Given the description of an element on the screen output the (x, y) to click on. 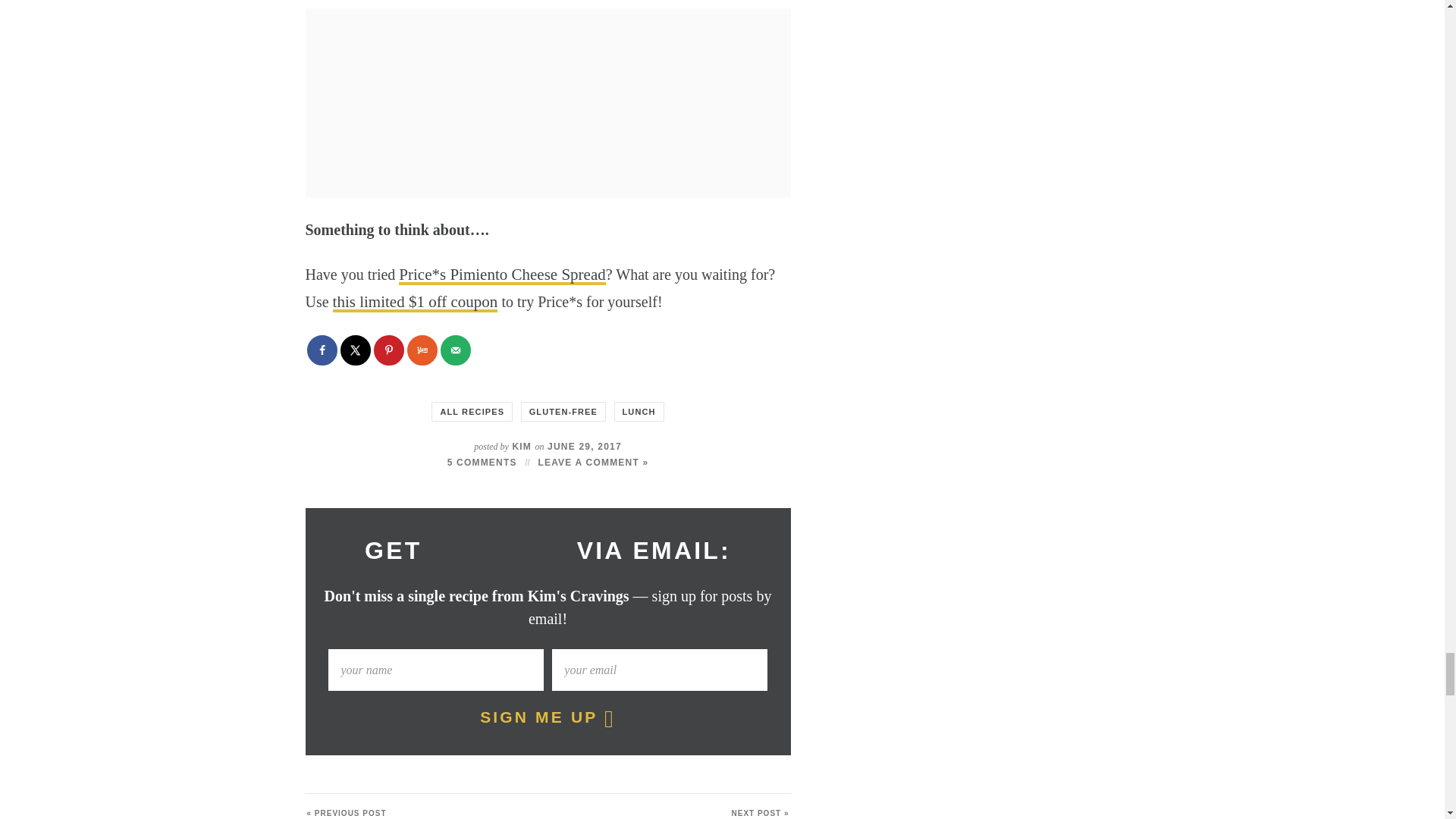
Send over email (454, 349)
Share on Yummly (421, 349)
Share on X (354, 349)
Save to Pinterest (387, 349)
Share on Facebook (320, 349)
